Given the description of an element on the screen output the (x, y) to click on. 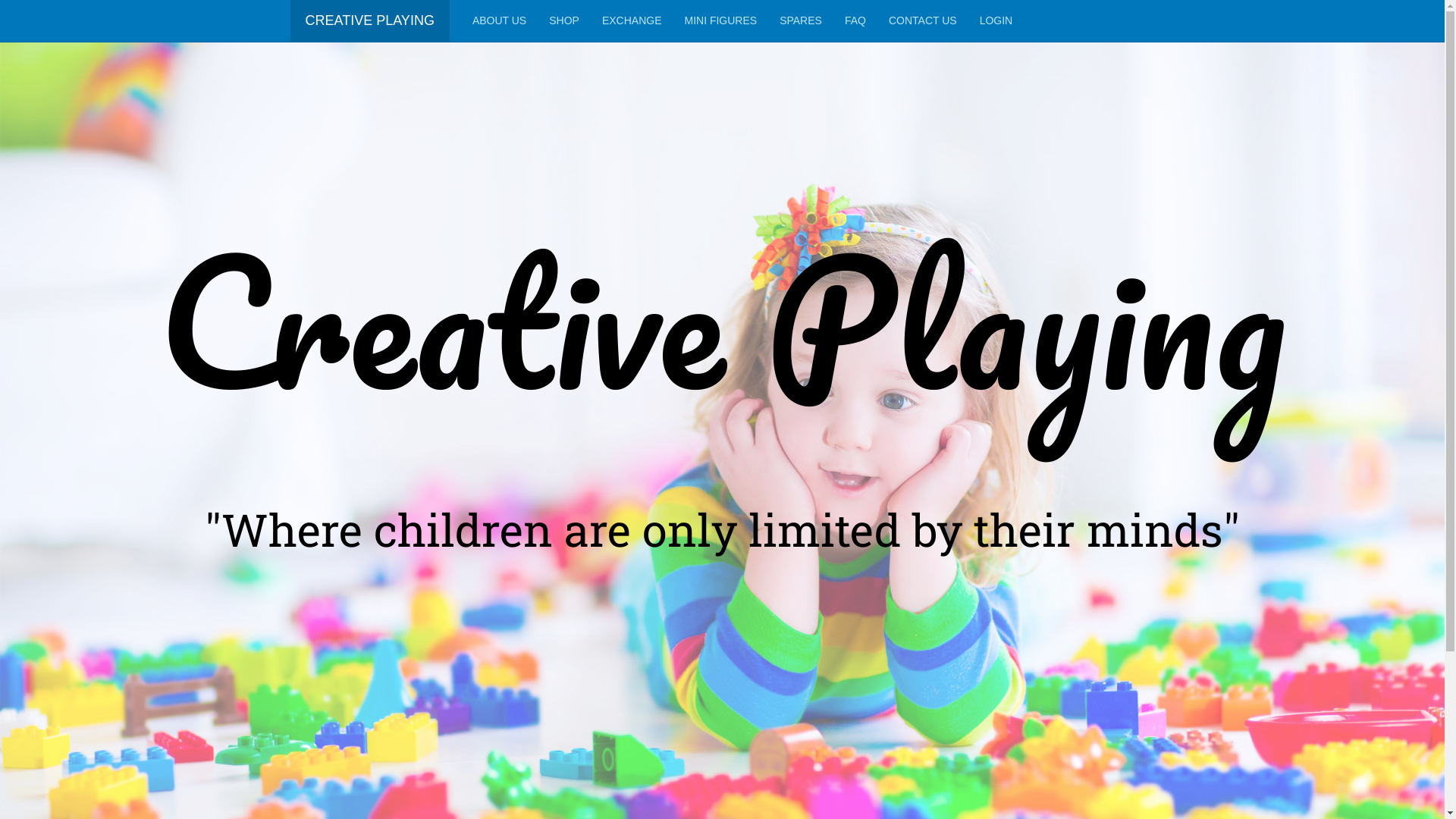
MINI FIGURES Element type: text (720, 20)
EXCHANGE Element type: text (632, 20)
SHOP Element type: text (564, 20)
ABOUT US Element type: text (499, 20)
CONTACT US Element type: text (922, 20)
SPARES Element type: text (800, 20)
FAQ Element type: text (855, 20)
LOGIN Element type: text (996, 20)
CREATIVE PLAYING Element type: text (368, 20)
